Given the description of an element on the screen output the (x, y) to click on. 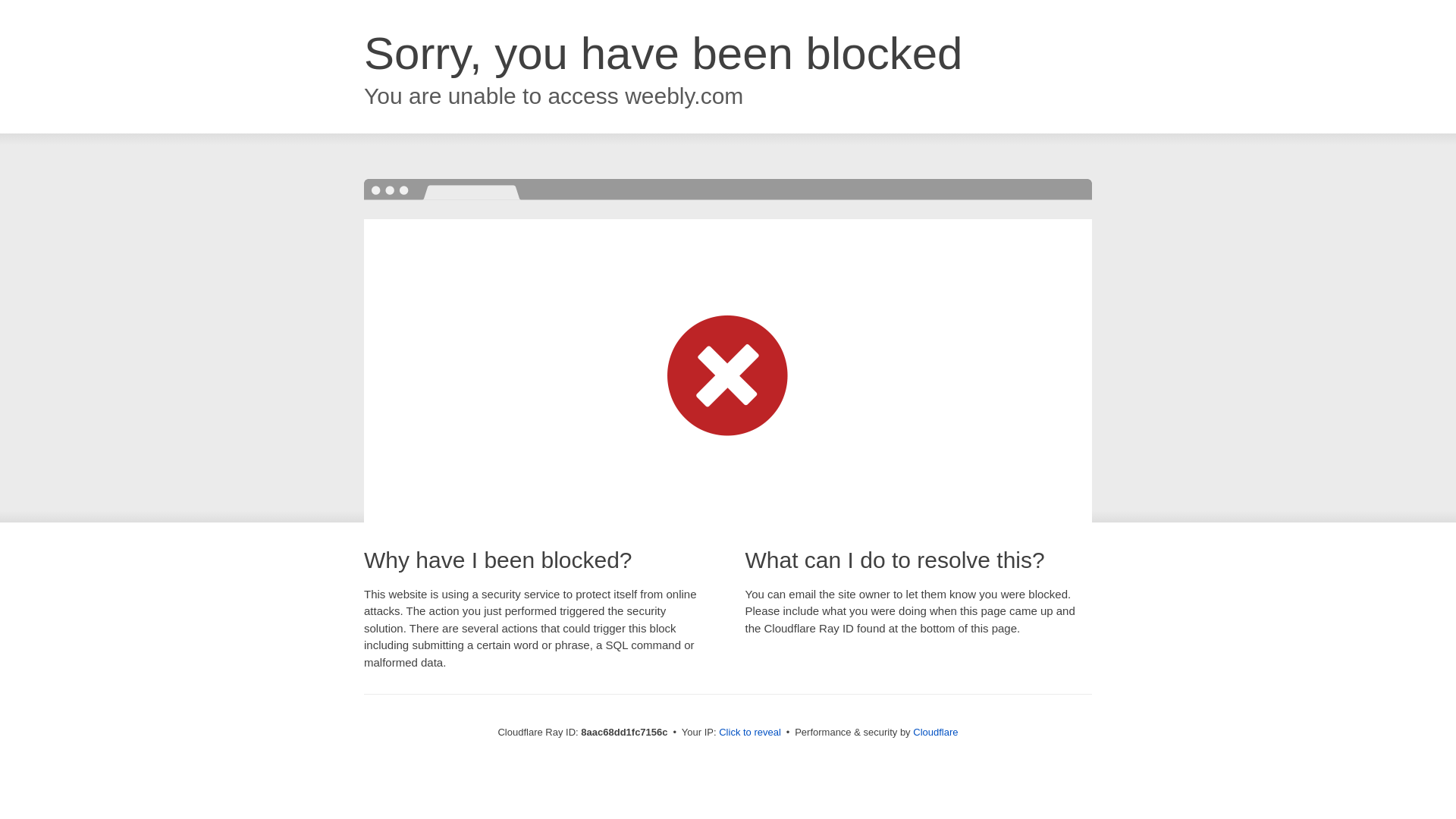
Cloudflare (935, 731)
Click to reveal (749, 732)
